Given the description of an element on the screen output the (x, y) to click on. 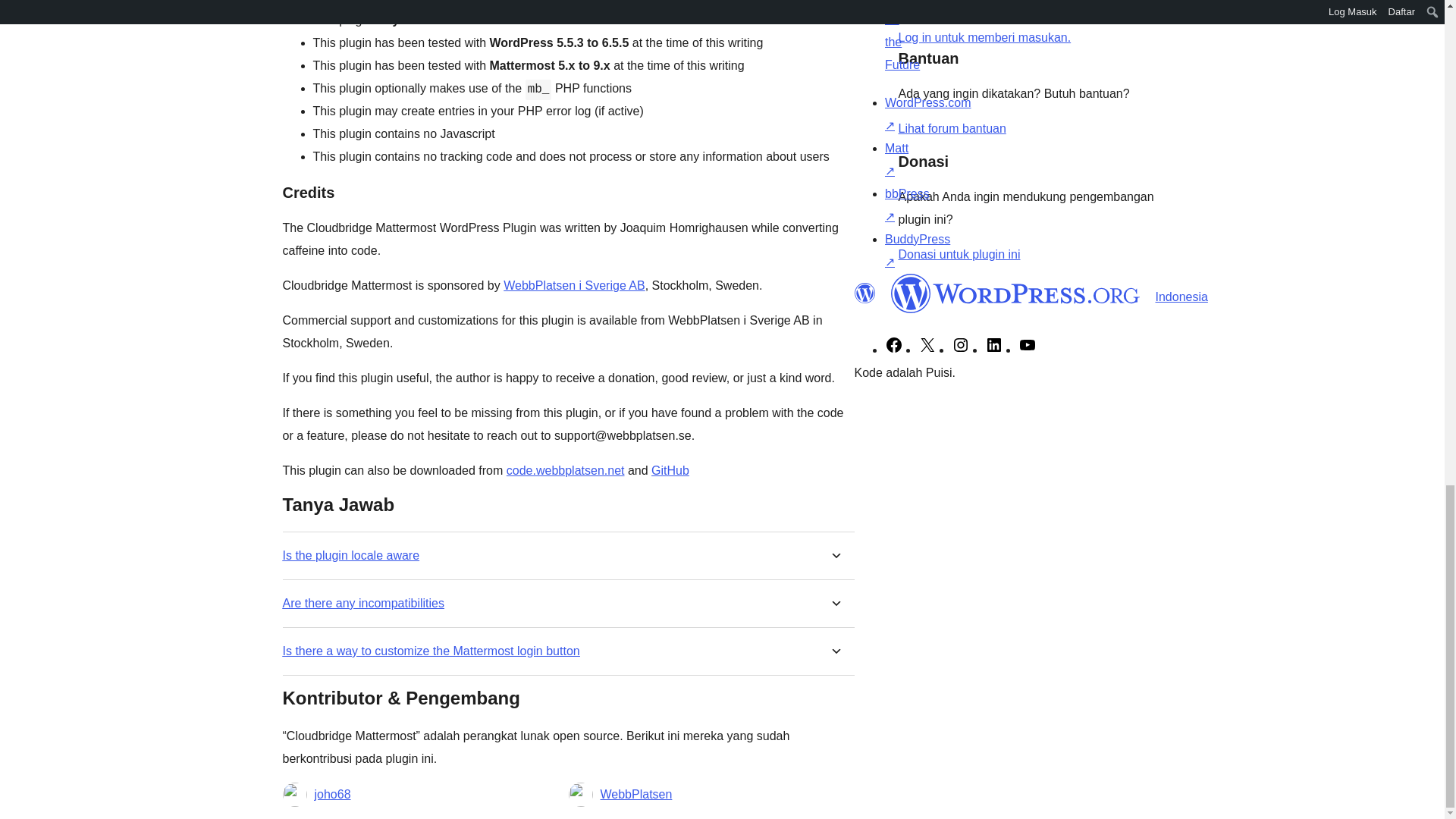
WebbPlatsen i Sverige AB (574, 285)
Are there any incompatibilities (363, 603)
WordPress.org (864, 292)
GitHub (669, 470)
code.webbplatsen.net (565, 470)
Log in ke WordPress.org (984, 37)
Is the plugin locale aware (350, 554)
WordPress.org (1014, 292)
